Given the description of an element on the screen output the (x, y) to click on. 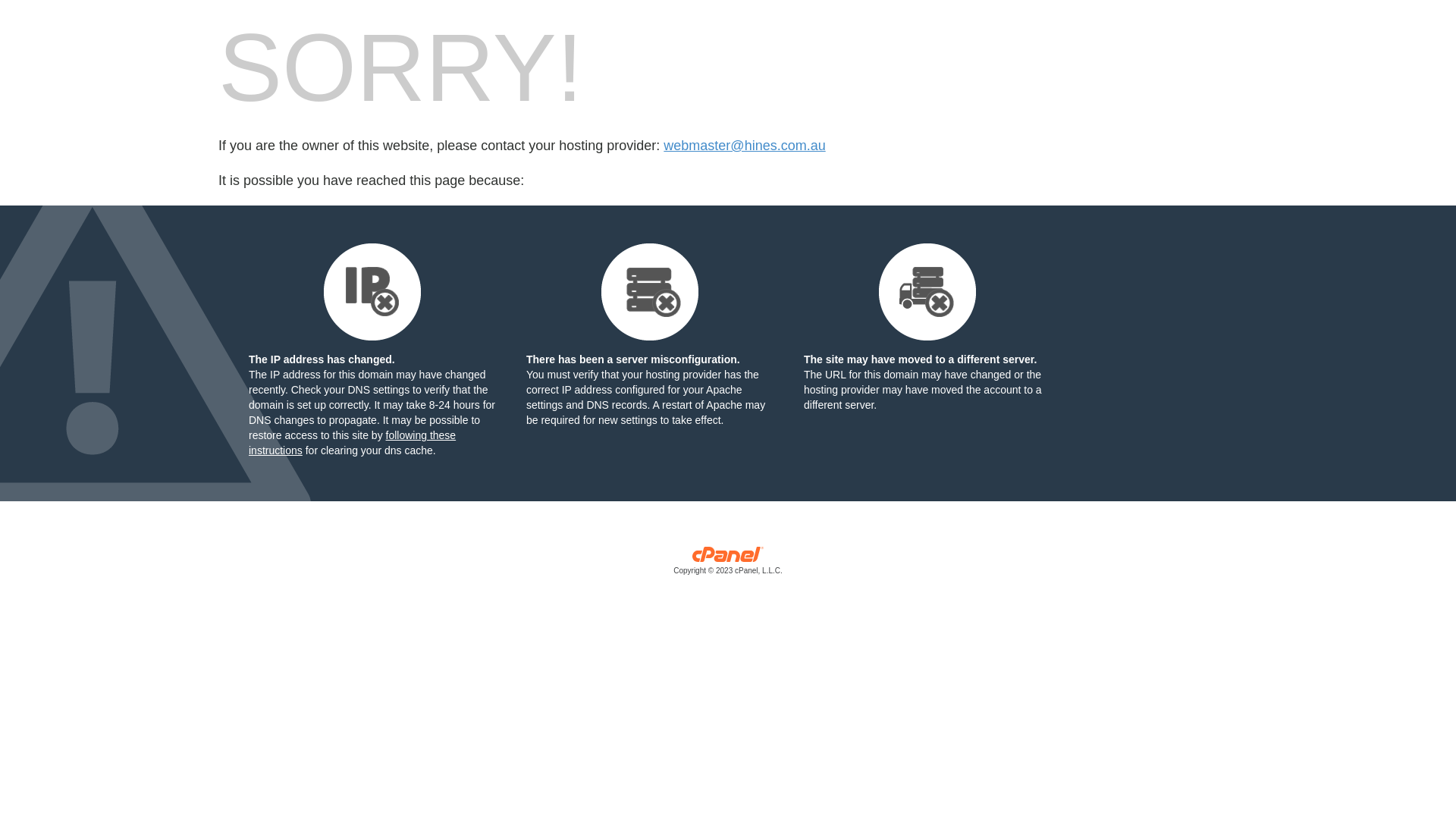
webmaster@hines.com.au Element type: text (744, 145)
following these instructions Element type: text (351, 442)
